Given the description of an element on the screen output the (x, y) to click on. 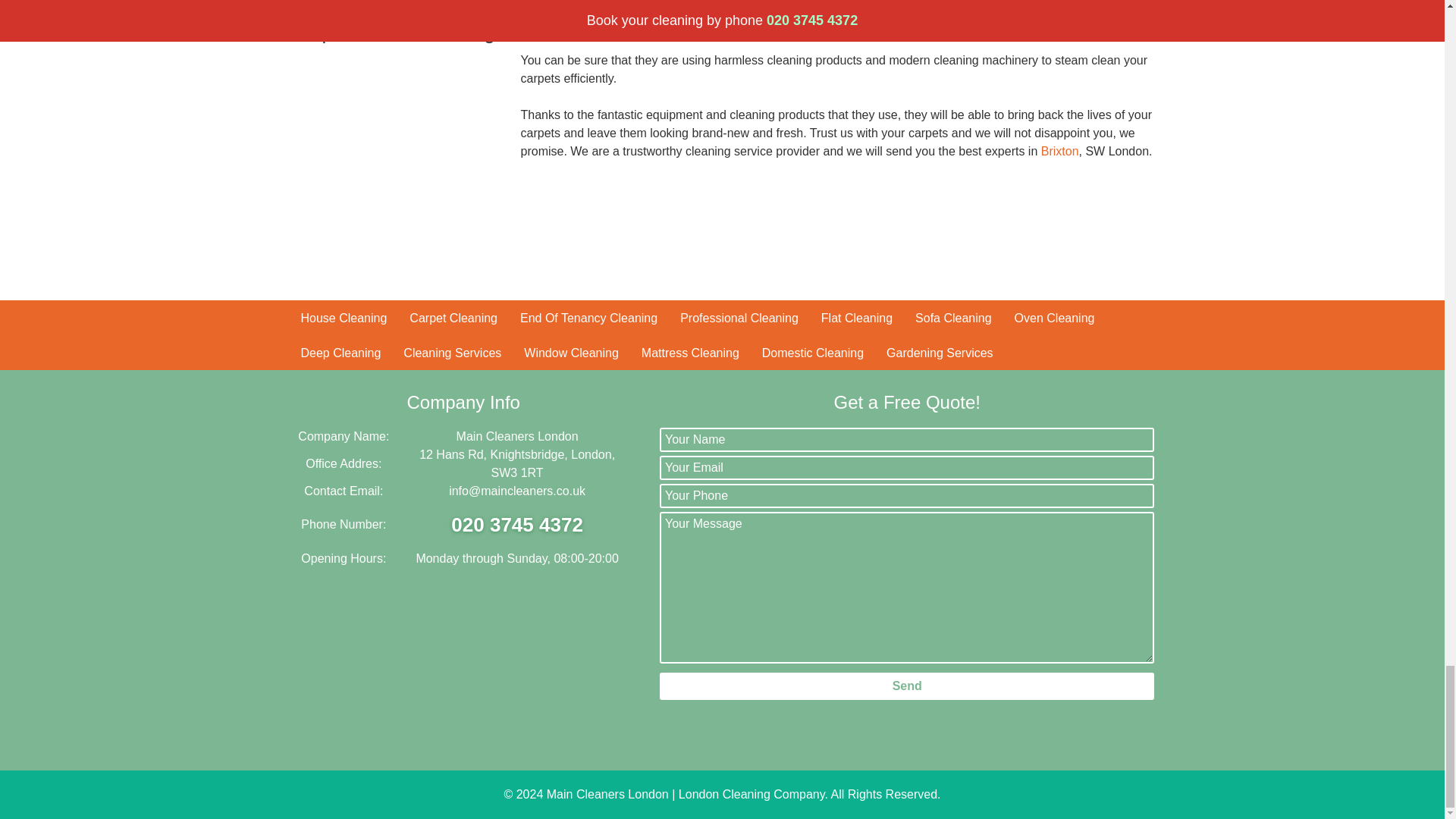
End Of Tenancy Cleaning (588, 317)
Brixton (1059, 151)
House Cleaning (343, 317)
Send (906, 686)
Carpet Cleaning (453, 317)
Professional Cleaning (739, 317)
